Given the description of an element on the screen output the (x, y) to click on. 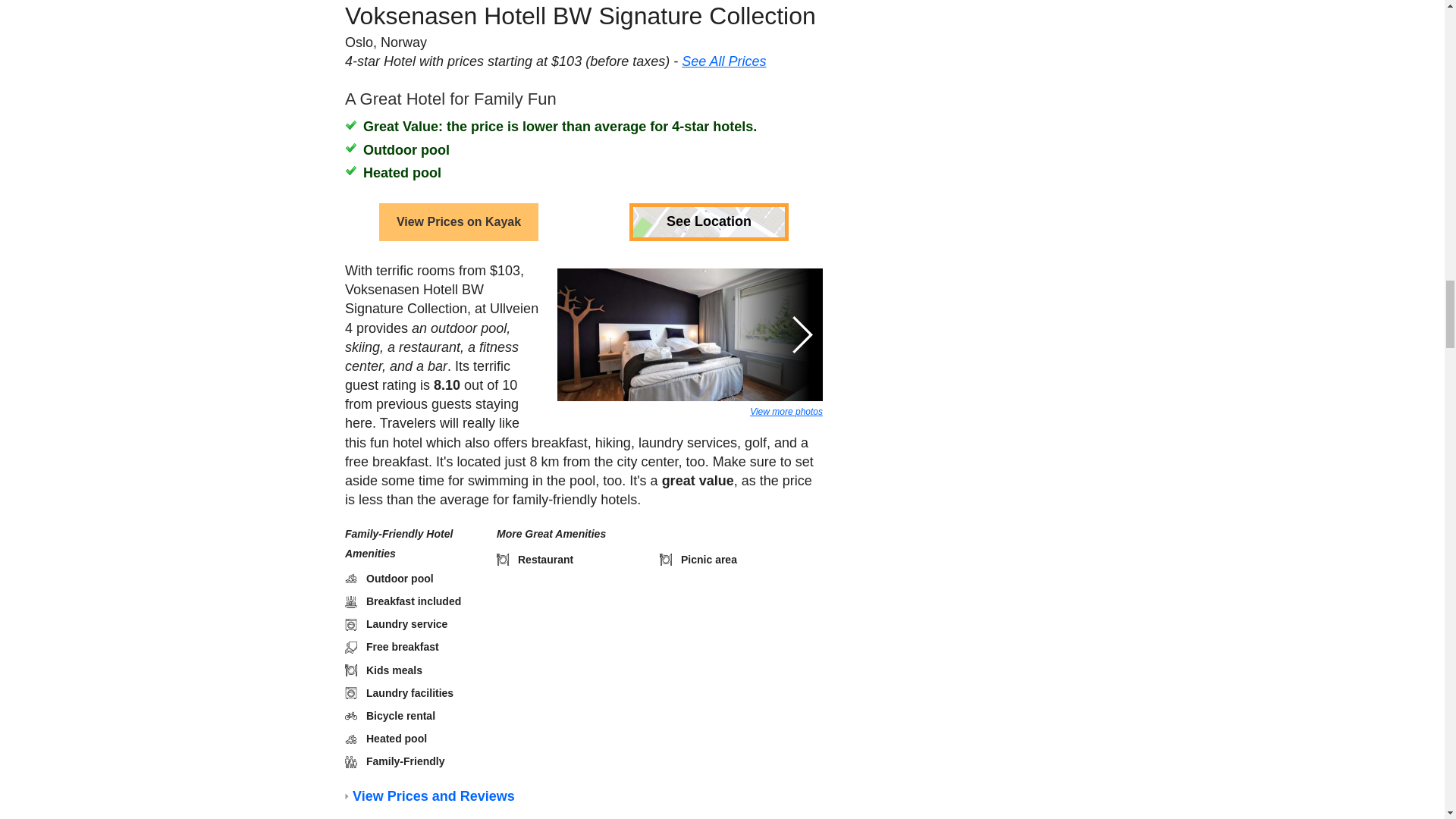
View more photos (785, 317)
View Prices on Kayak (458, 127)
See Location (708, 127)
